Given the description of an element on the screen output the (x, y) to click on. 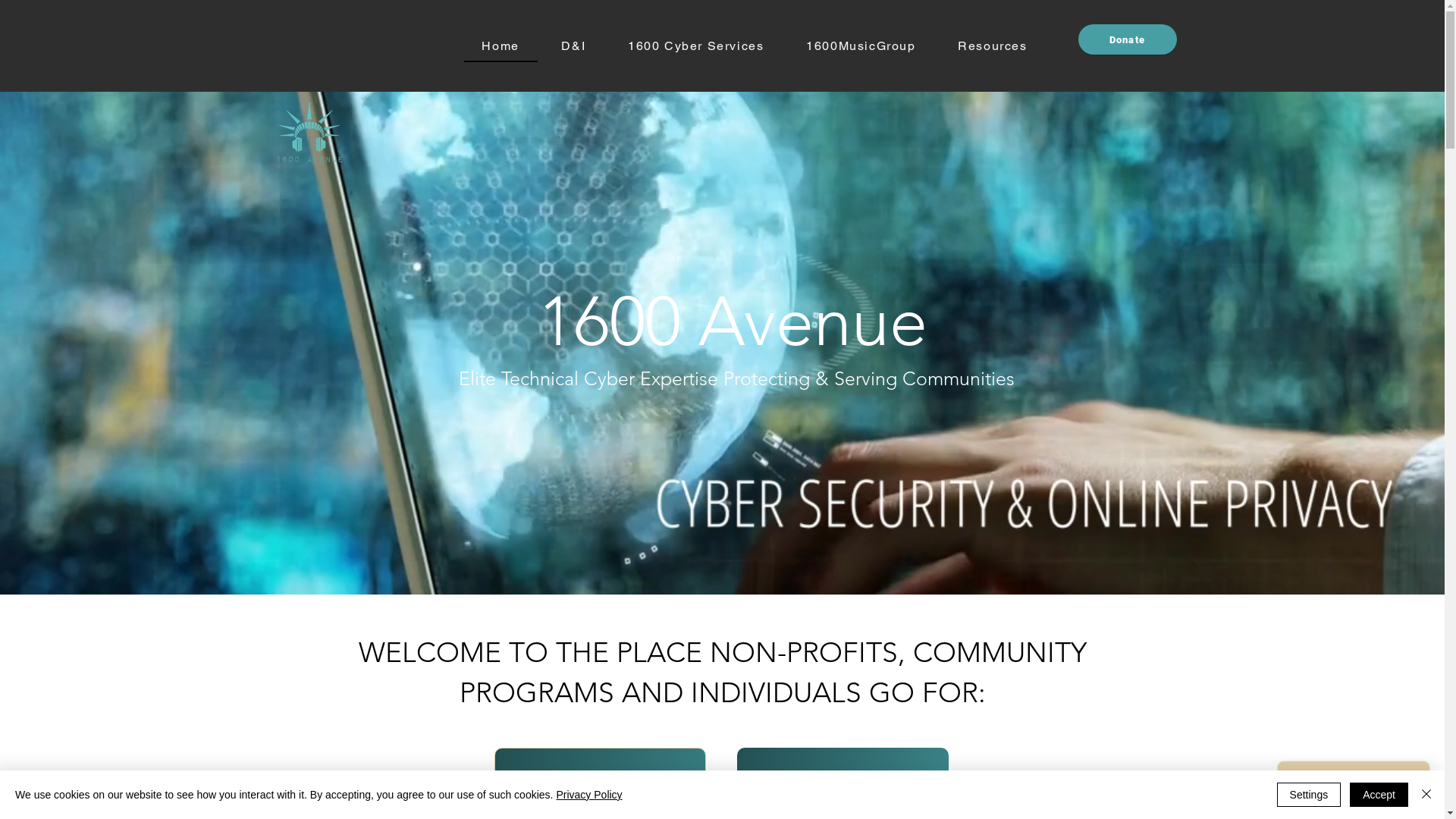
Settings Element type: text (1309, 794)
Accept Element type: text (1378, 794)
1600 Cyber Services Element type: text (695, 46)
Privacy Policy Element type: text (588, 794)
Home Element type: text (500, 46)
D&I Element type: text (573, 46)
1600MusicGroup Element type: text (860, 46)
Donate Element type: text (1127, 39)
